Given the description of an element on the screen output the (x, y) to click on. 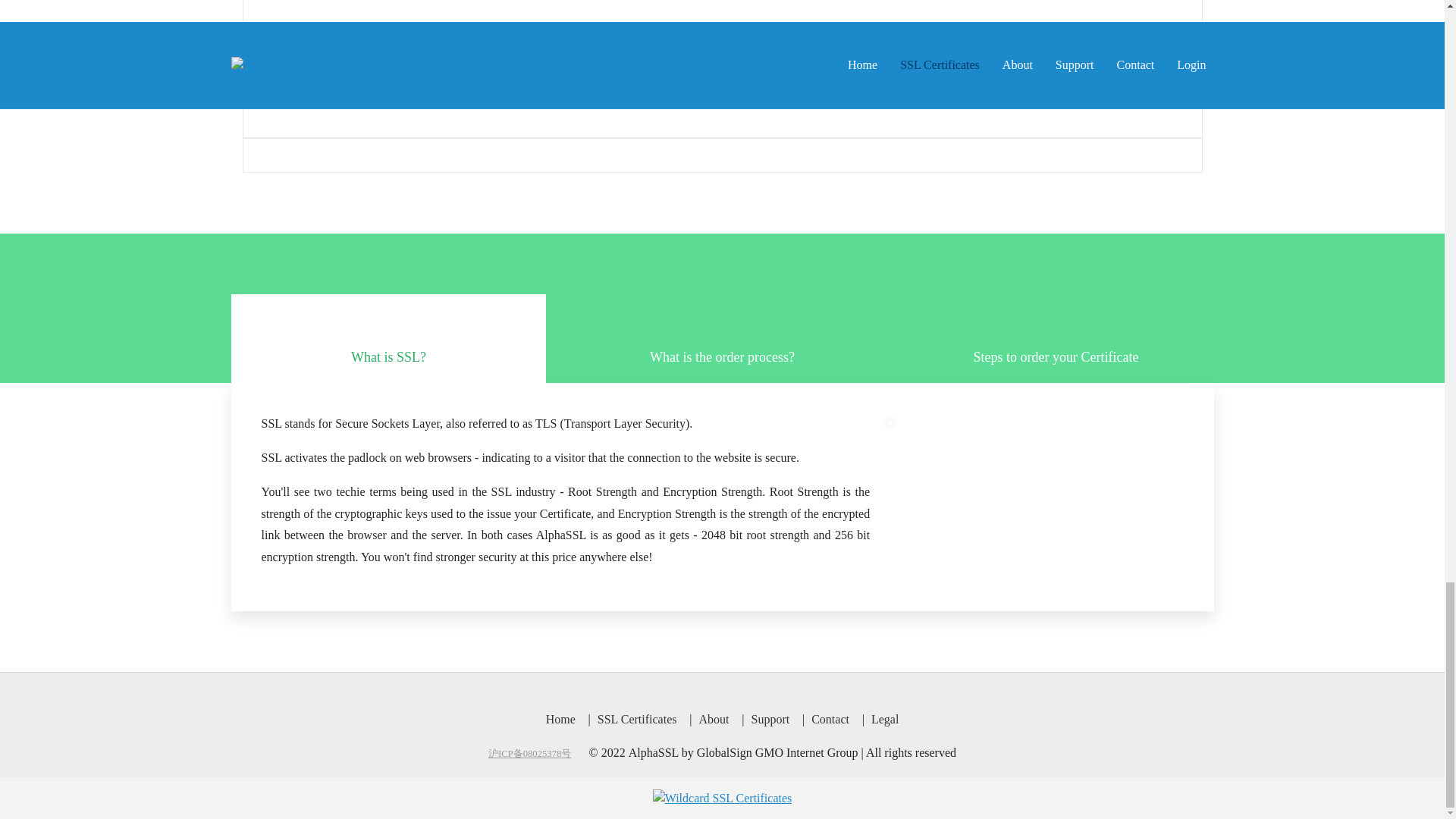
What is the order process? (721, 338)
SSL Certificates (722, 797)
Contact (830, 718)
SSL Certificate (722, 798)
About (713, 718)
Home (560, 718)
SSL Certificates (637, 718)
Steps to order your Certificate (1055, 338)
Legal (884, 718)
What is SSL? (388, 338)
